Given the description of an element on the screen output the (x, y) to click on. 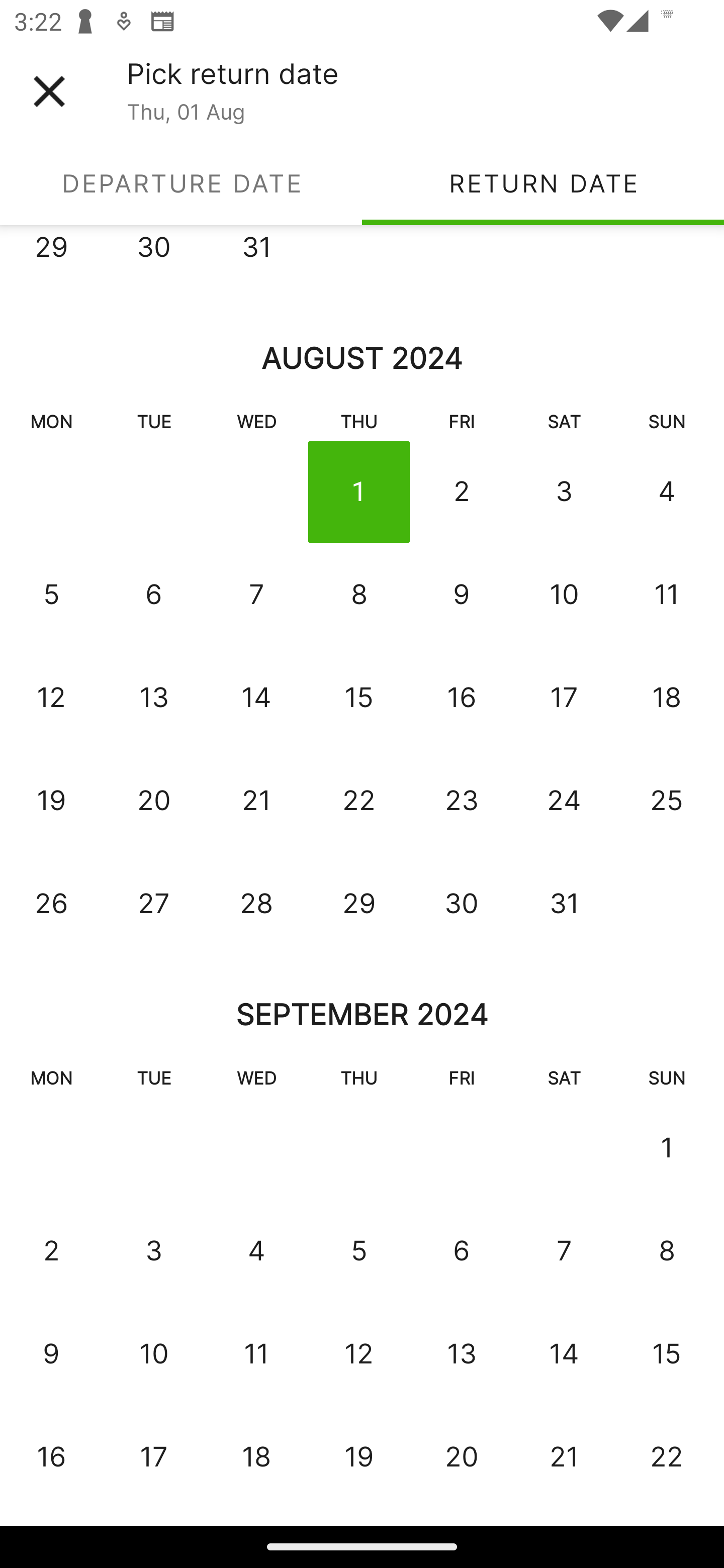
Departure Date DEPARTURE DATE (181, 183)
